Given the description of an element on the screen output the (x, y) to click on. 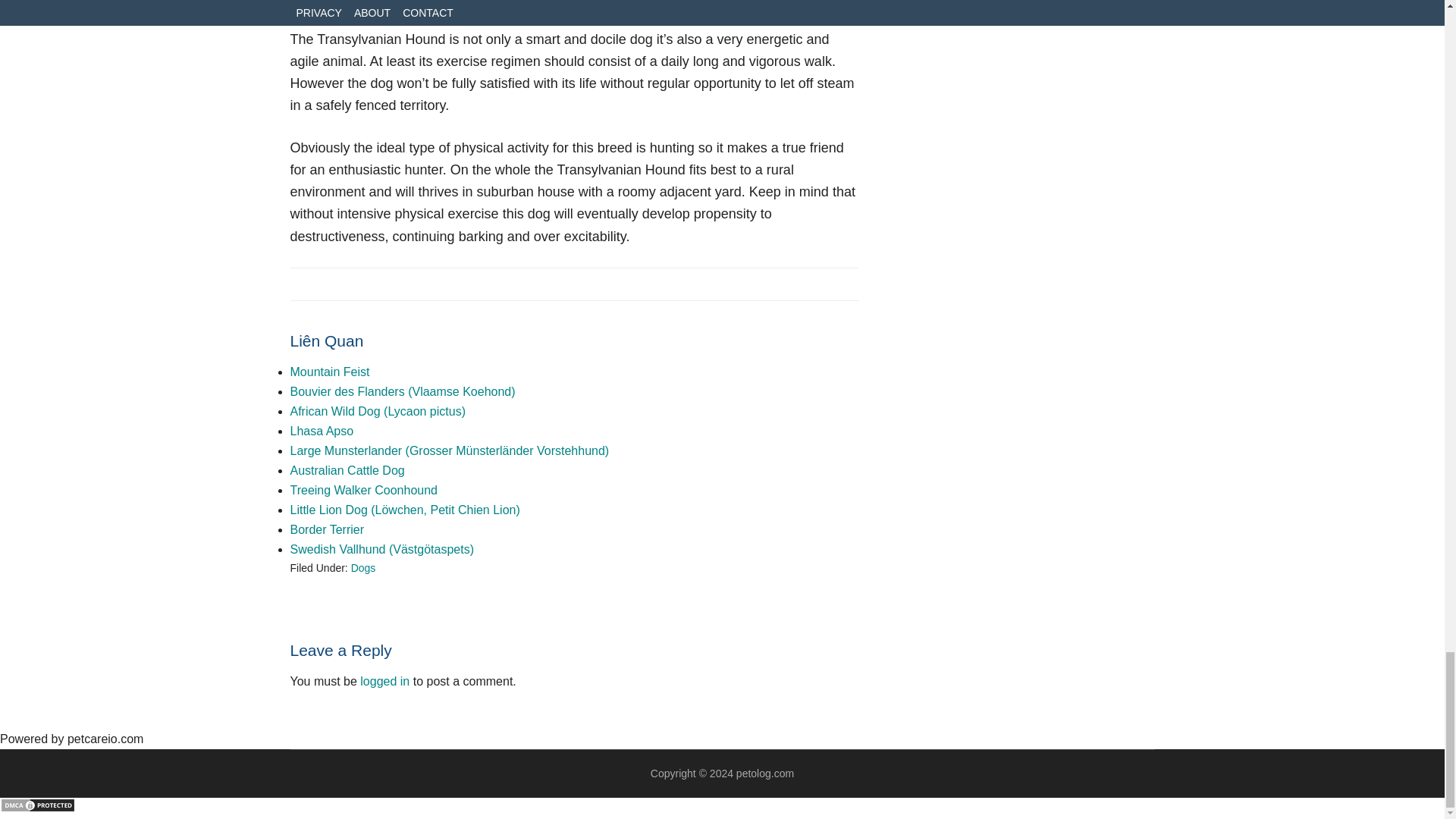
DMCA.com Protection Status (37, 808)
Permanent Link toLhasa Apso (321, 431)
Lhasa Apso (321, 431)
Mountain Feist (329, 371)
Treeing Walker Coonhound (362, 490)
Australian Cattle Dog (346, 470)
Permanent Link toBorder Terrier (326, 529)
Dogs (362, 567)
Border Terrier (326, 529)
logged in (384, 680)
Permanent Link toMountain Feist (329, 371)
Permanent Link toTreeing Walker Coonhound (362, 490)
Permanent Link toAustralian Cattle Dog (346, 470)
